Given the description of an element on the screen output the (x, y) to click on. 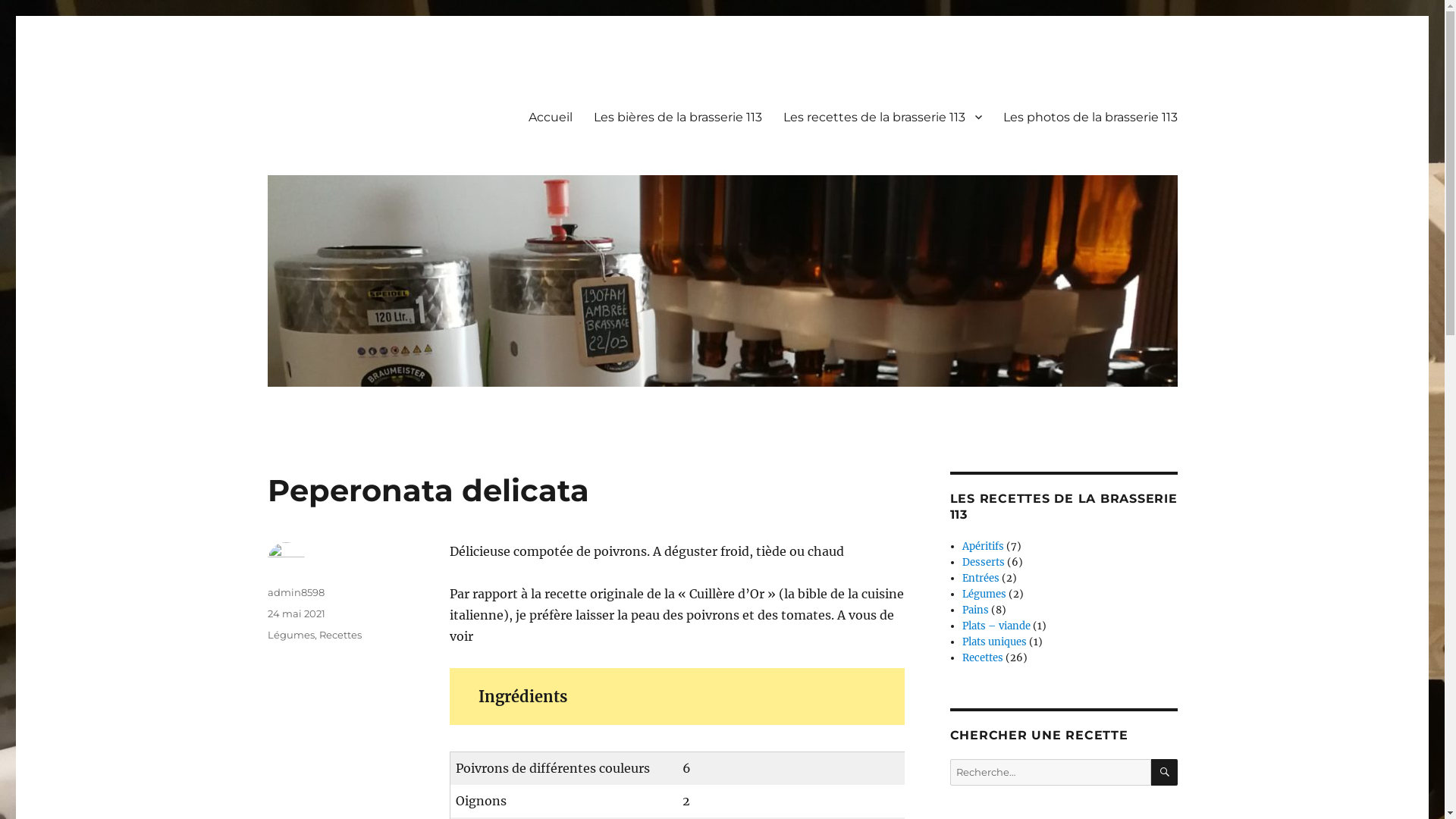
Les recettes de la brasserie 113 Element type: text (881, 116)
Recettes Element type: text (339, 634)
Recettes Element type: text (982, 657)
RECHERCHE Element type: text (1164, 772)
Accueil Element type: text (549, 116)
admin8598 Element type: text (294, 592)
Les photos de la brasserie 113 Element type: text (1089, 116)
Desserts Element type: text (983, 561)
24 mai 2021 Element type: text (295, 613)
Pains Element type: text (975, 609)
Brasserie 113 Element type: text (335, 92)
Plats uniques Element type: text (994, 641)
